Given the description of an element on the screen output the (x, y) to click on. 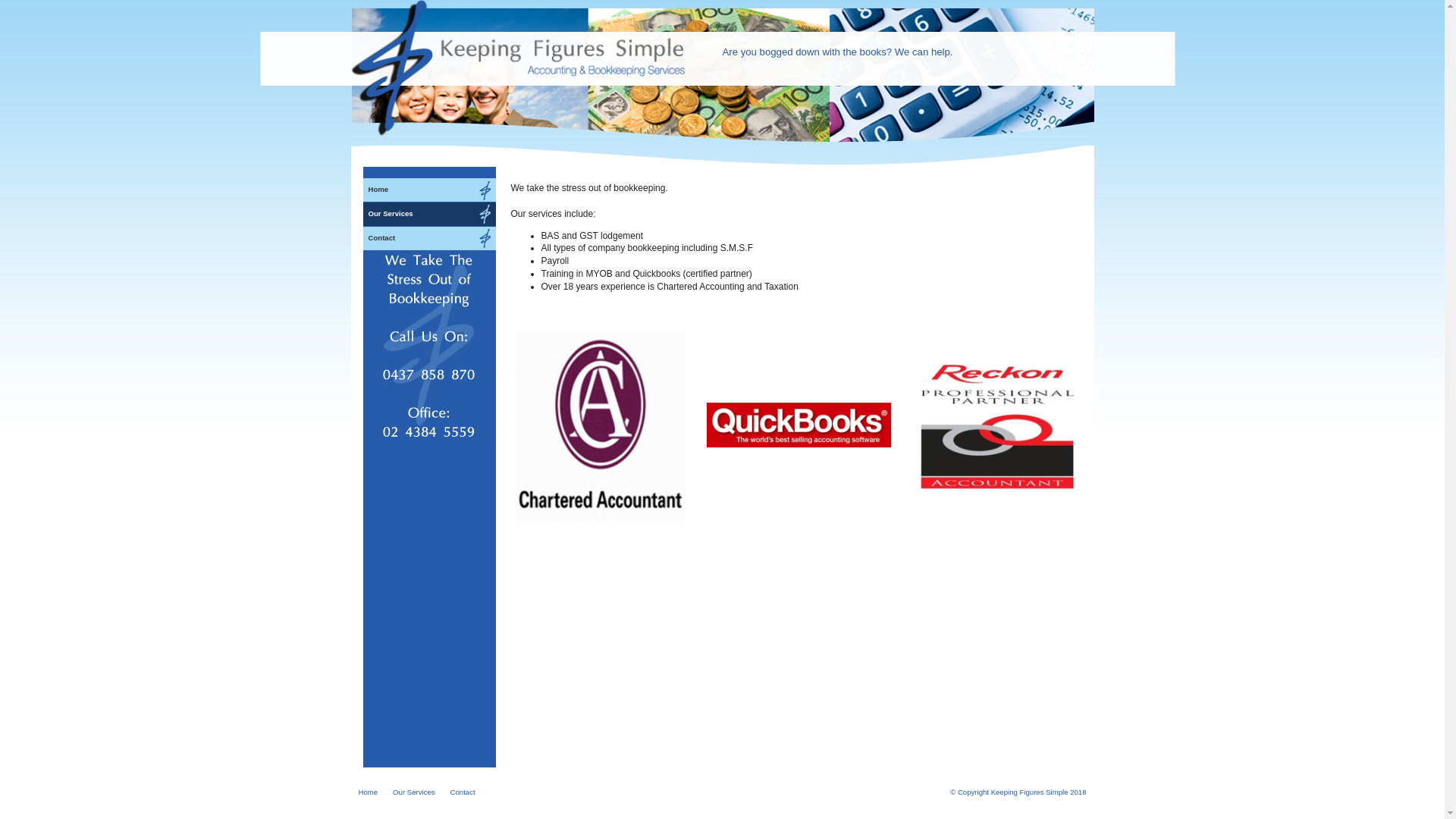
Contact Element type: text (462, 792)
Home Element type: text (428, 189)
Home Element type: text (367, 792)
Our Services Element type: text (428, 213)
Contact Element type: text (428, 238)
Our Services Element type: text (413, 792)
